Given the description of an element on the screen output the (x, y) to click on. 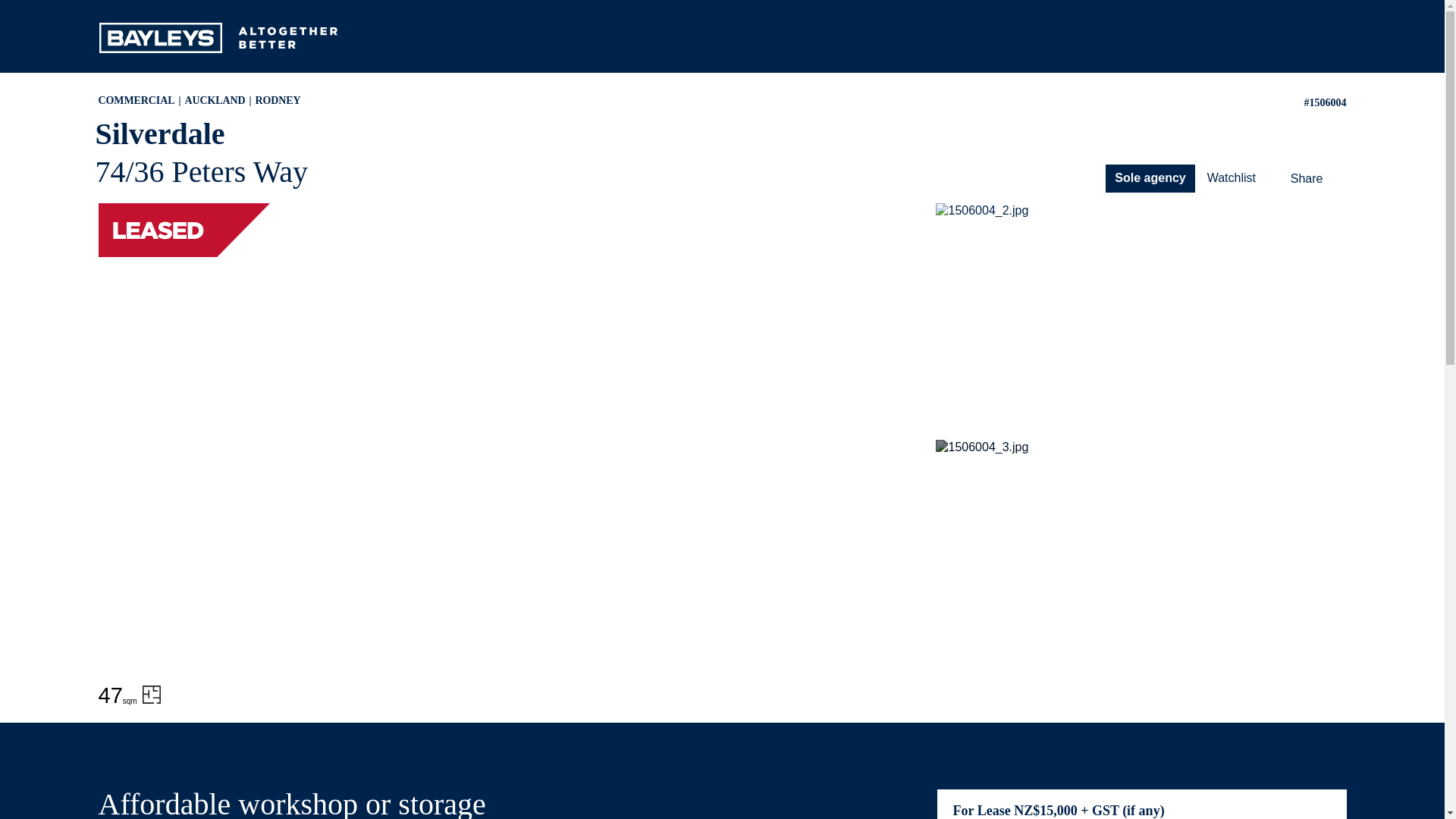
RODNEY (276, 100)
COMMERCIAL (141, 100)
AUCKLAND (219, 100)
